Given the description of an element on the screen output the (x, y) to click on. 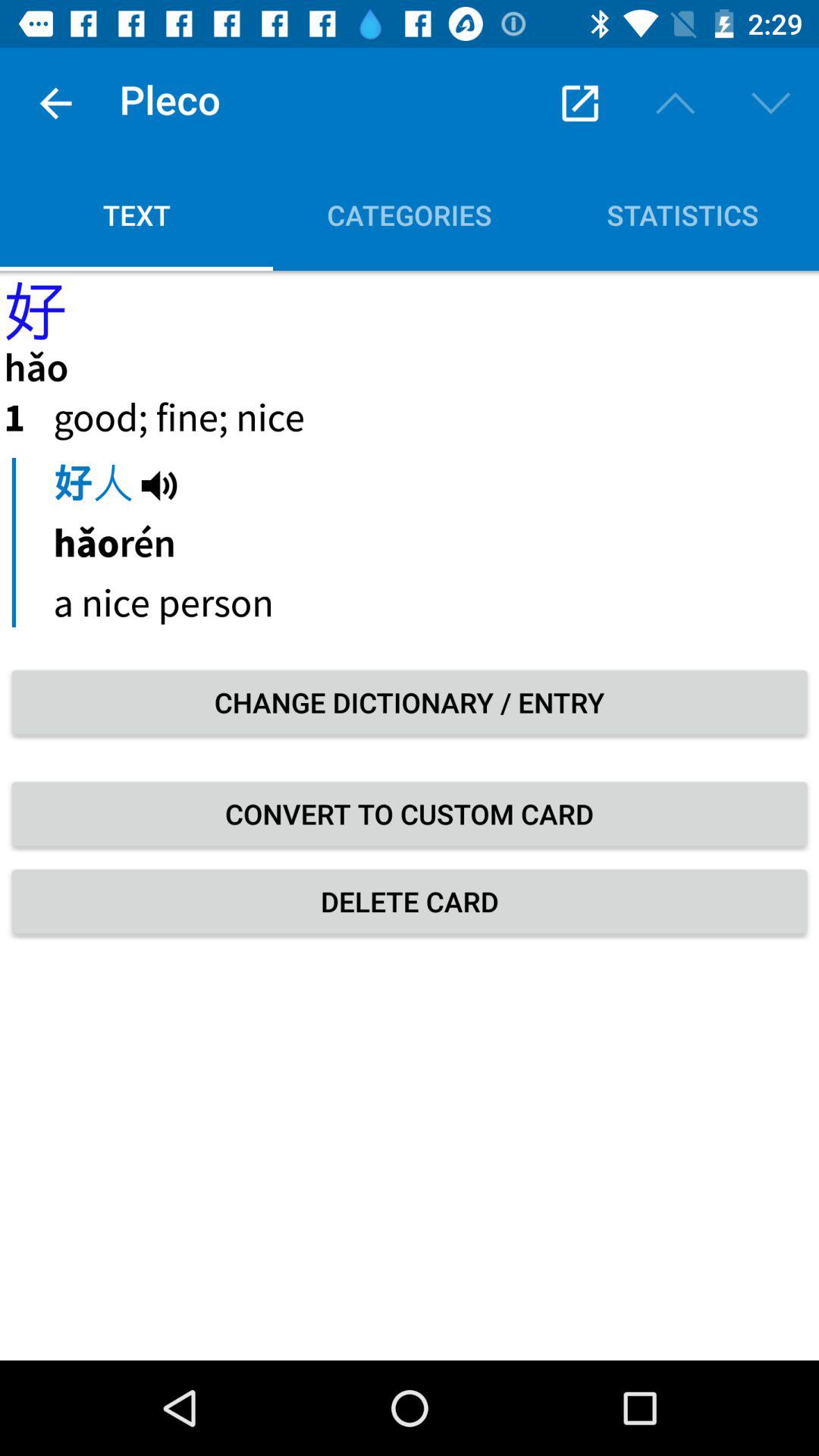
press the statistics icon (682, 214)
